Given the description of an element on the screen output the (x, y) to click on. 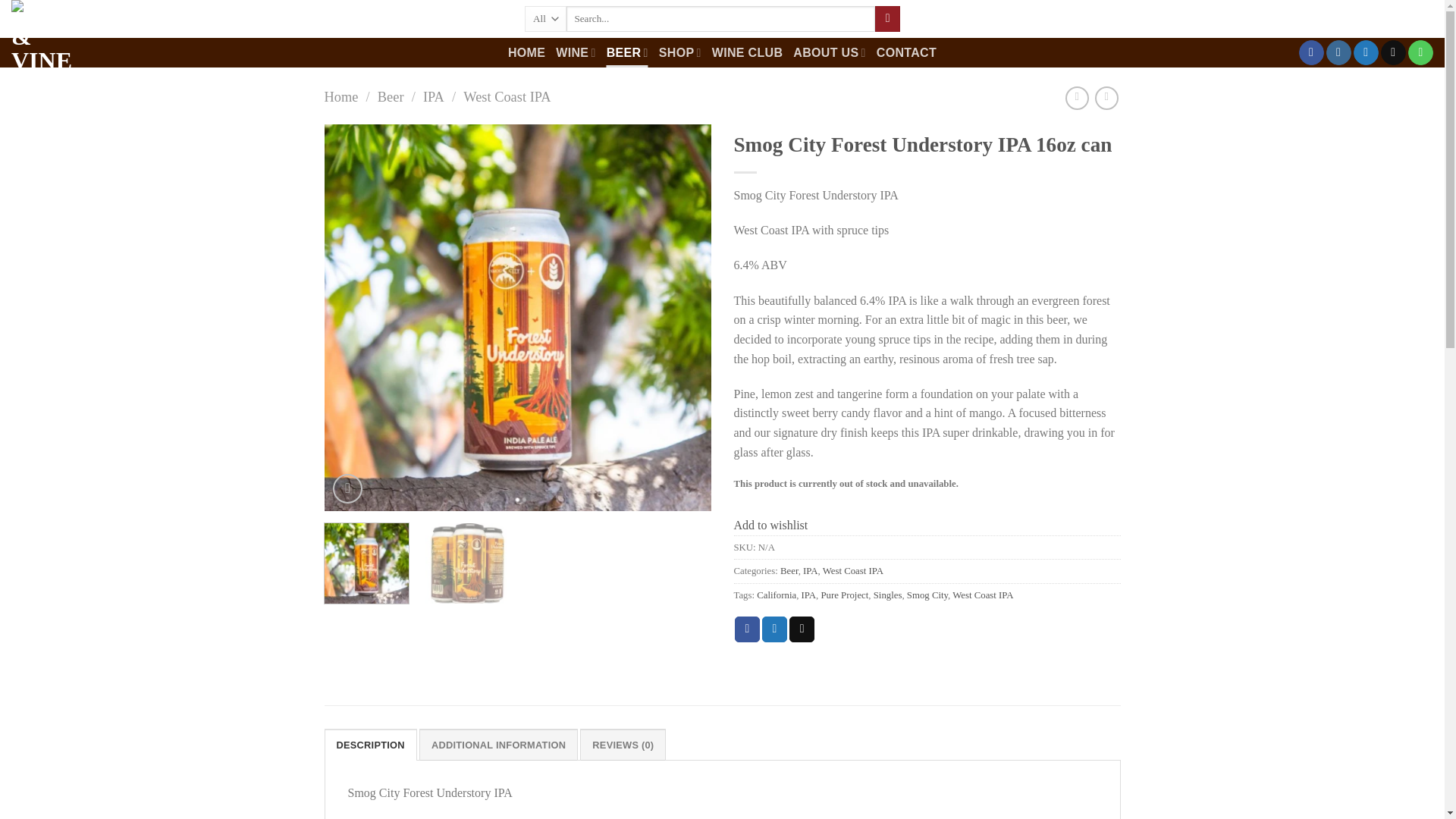
Email to a Friend (801, 629)
Share on Twitter (774, 629)
Follow on Twitter (1366, 53)
CART (1409, 19)
Follow on Instagram (1338, 53)
Search (887, 18)
WINE (575, 52)
Follow on Facebook (1310, 53)
Zoom (347, 488)
Call us (1419, 53)
SHOP (680, 52)
Cart (1409, 19)
HOME (526, 52)
Share on Facebook (747, 629)
BEER (627, 52)
